Given the description of an element on the screen output the (x, y) to click on. 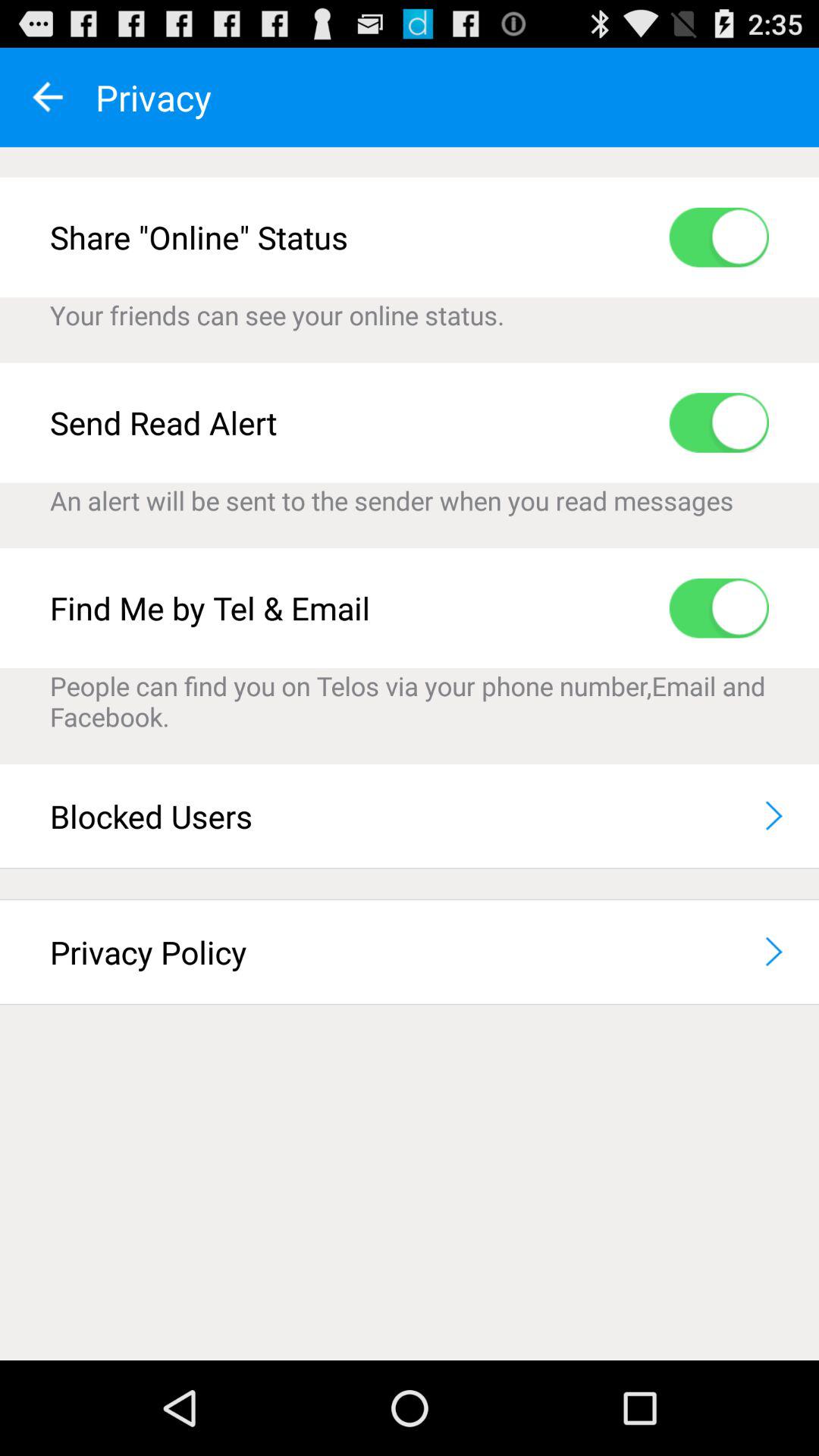
tap app below the your friends can app (718, 422)
